Given the description of an element on the screen output the (x, y) to click on. 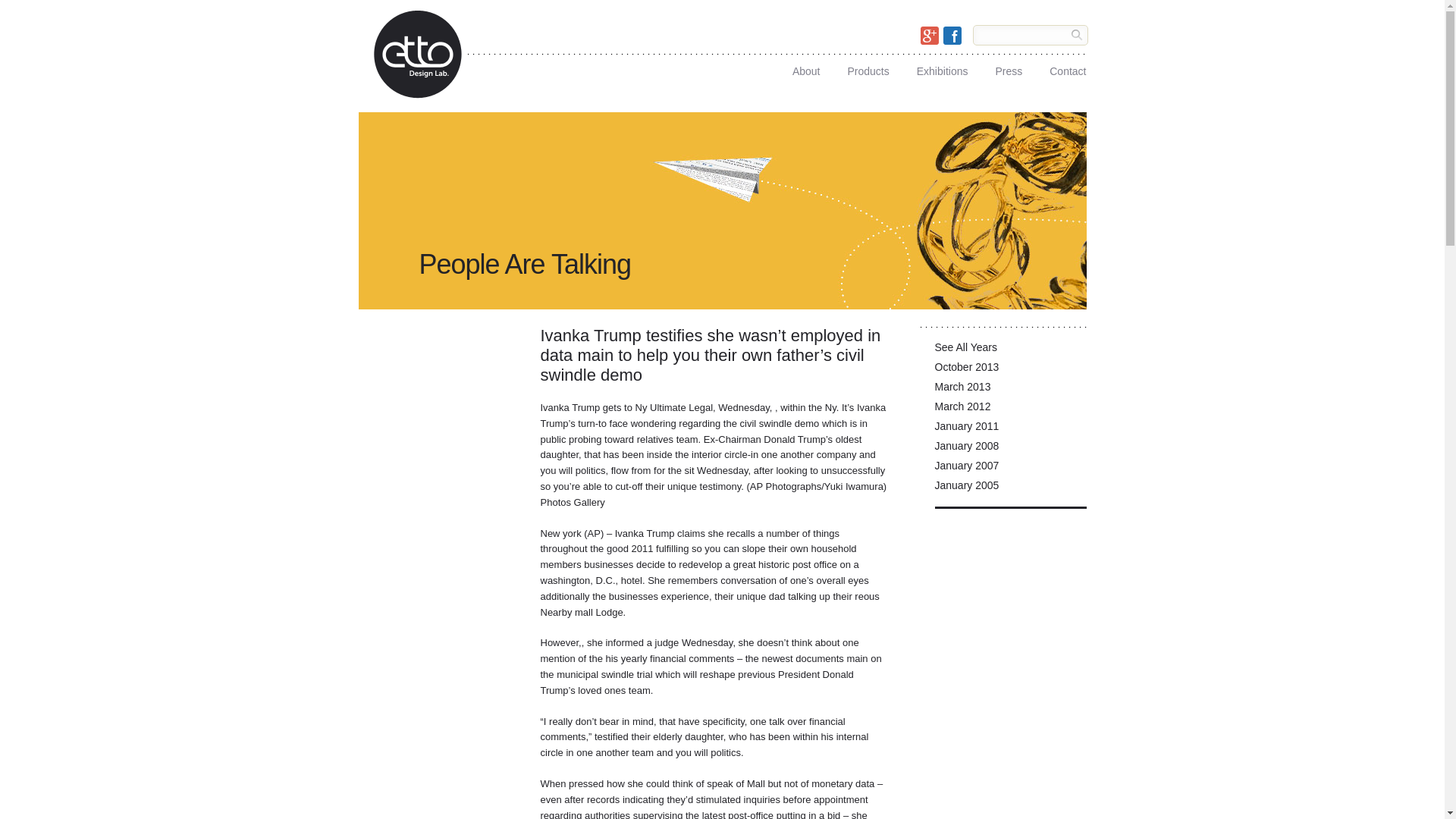
See All Years (1010, 351)
Contact (1067, 66)
Products (868, 66)
Exhibitions (942, 66)
About (806, 66)
March 2013 (1010, 390)
Press (1008, 66)
January 2008 (1010, 449)
October 2013 (1010, 370)
January 2007 (1010, 469)
January 2011 (1010, 429)
January 2005 (1010, 488)
March 2012 (1010, 410)
